Given the description of an element on the screen output the (x, y) to click on. 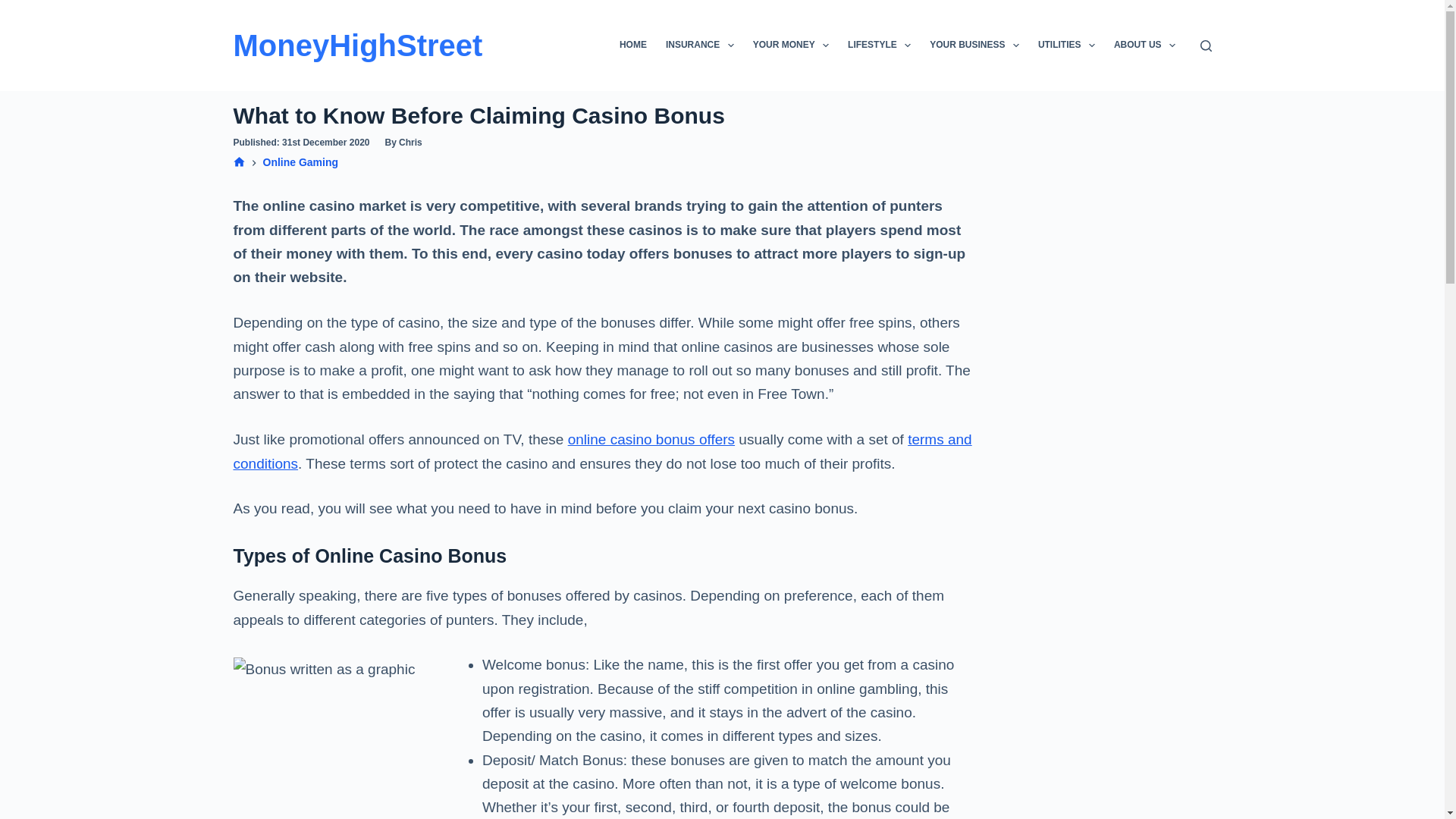
Skip to content (15, 7)
Posts by Chris (410, 142)
What to Know Before Claiming Casino Bonus (604, 115)
